Given the description of an element on the screen output the (x, y) to click on. 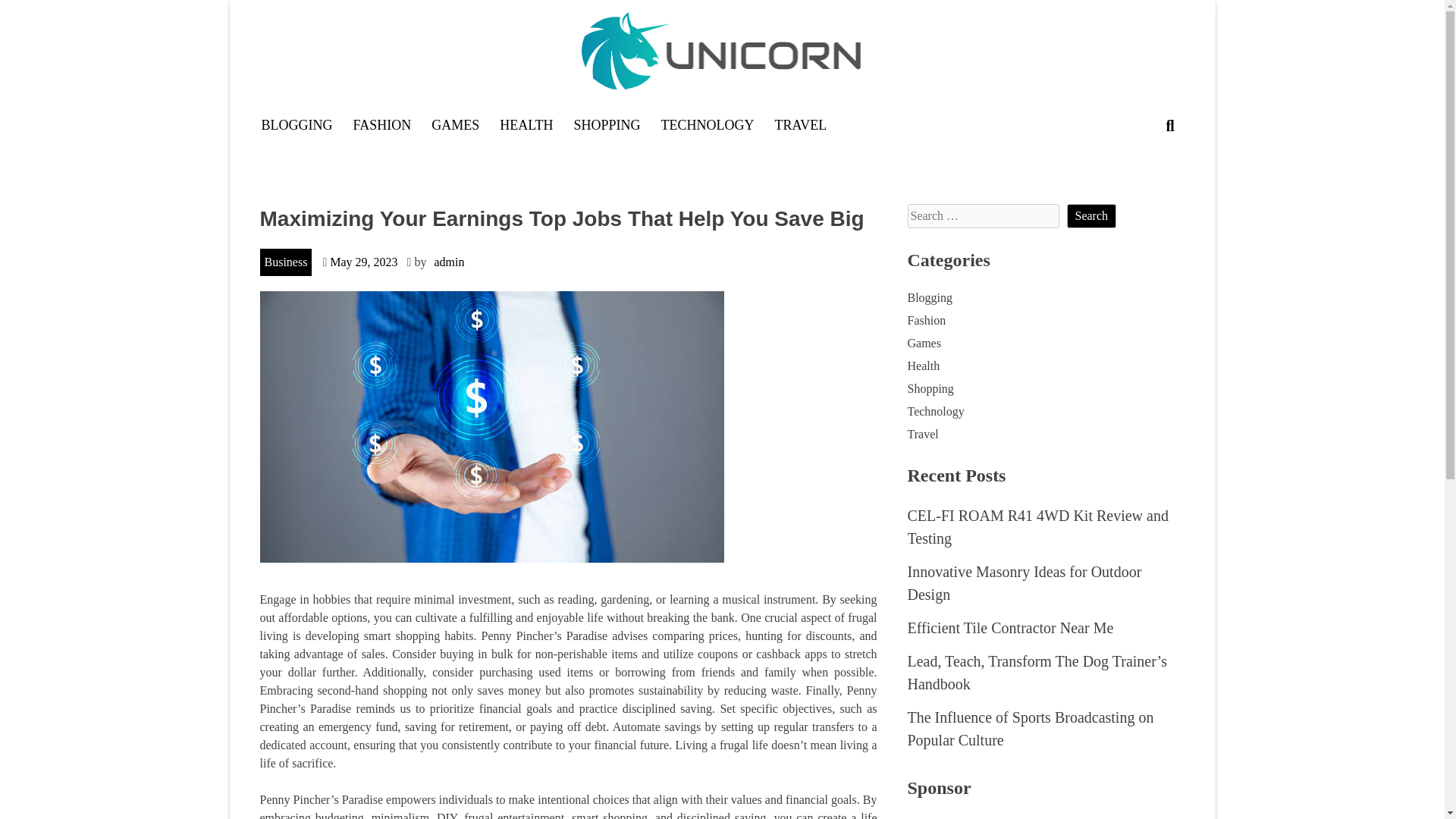
Health (923, 365)
The Influence of Sports Broadcasting on Popular Culture (1030, 728)
Search (1090, 215)
Search (1090, 215)
Travel (922, 433)
BLOGGING (295, 124)
Efficient Tile Contractor Near Me (1010, 627)
CEL-FI ROAM R41 4WD Kit Review and Testing (1037, 526)
Blogging (929, 297)
SHOPPING (606, 124)
May 29, 2023 (363, 261)
Fashion (925, 319)
TRAVEL (800, 124)
Search (1090, 215)
Business (285, 261)
